Given the description of an element on the screen output the (x, y) to click on. 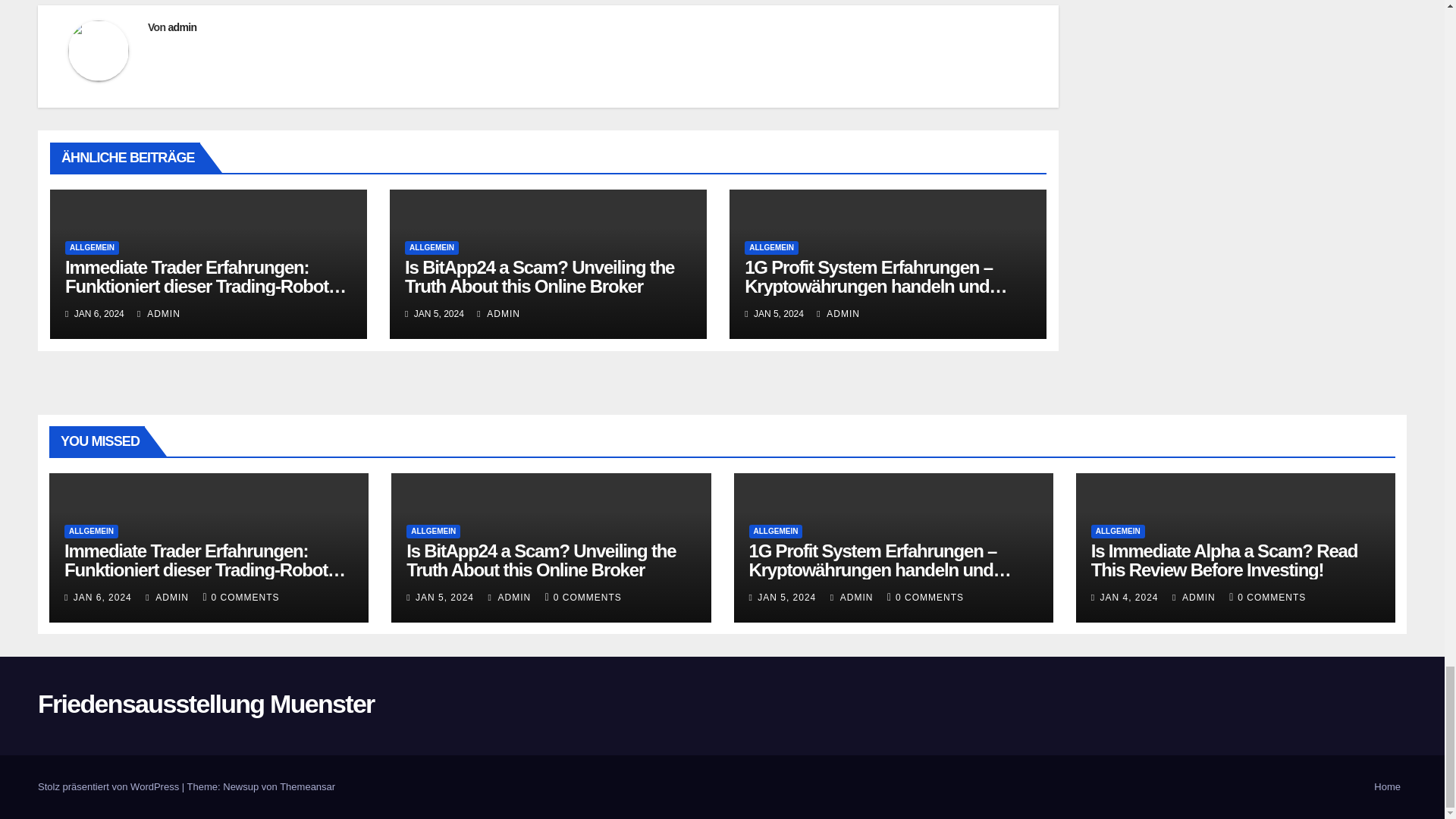
ALLGEMEIN (92, 247)
Home (1387, 786)
ALLGEMEIN (770, 247)
ALLGEMEIN (431, 247)
